Given the description of an element on the screen output the (x, y) to click on. 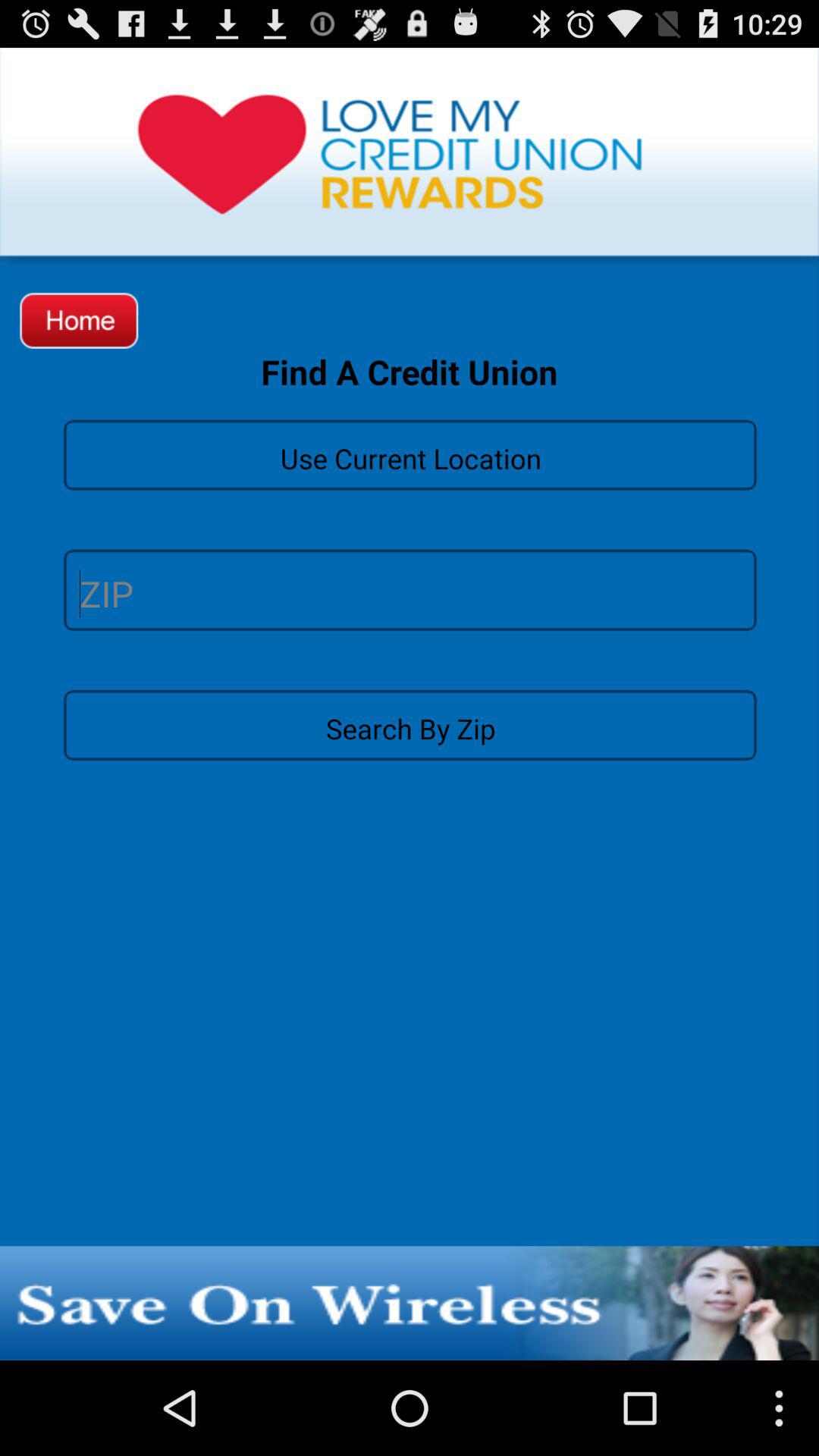
turn off search by zip button (409, 724)
